Given the description of an element on the screen output the (x, y) to click on. 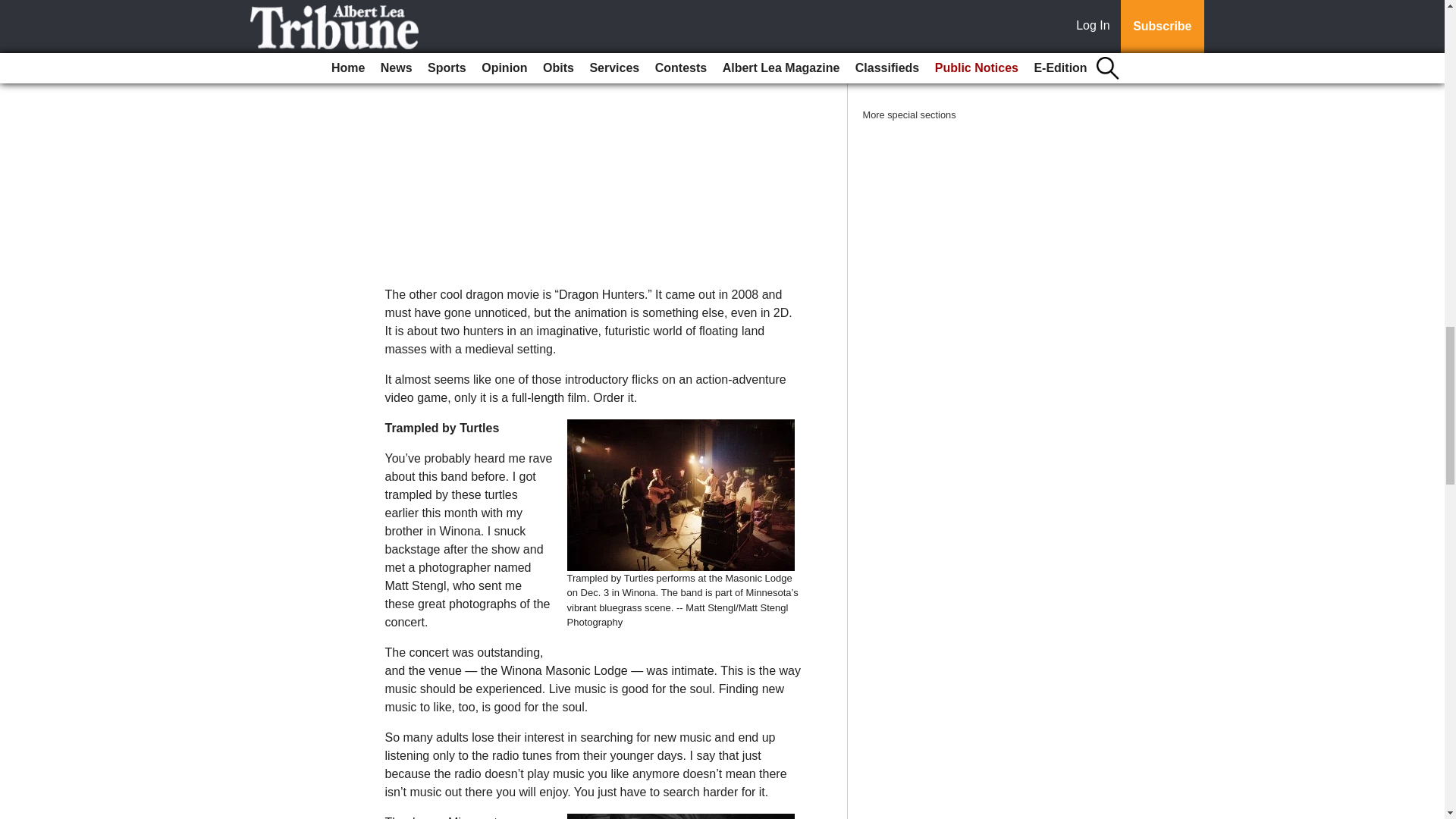
1221.trampled.turtles.1 (680, 494)
1221.trampled.turtles.3 (680, 816)
